Given the description of an element on the screen output the (x, y) to click on. 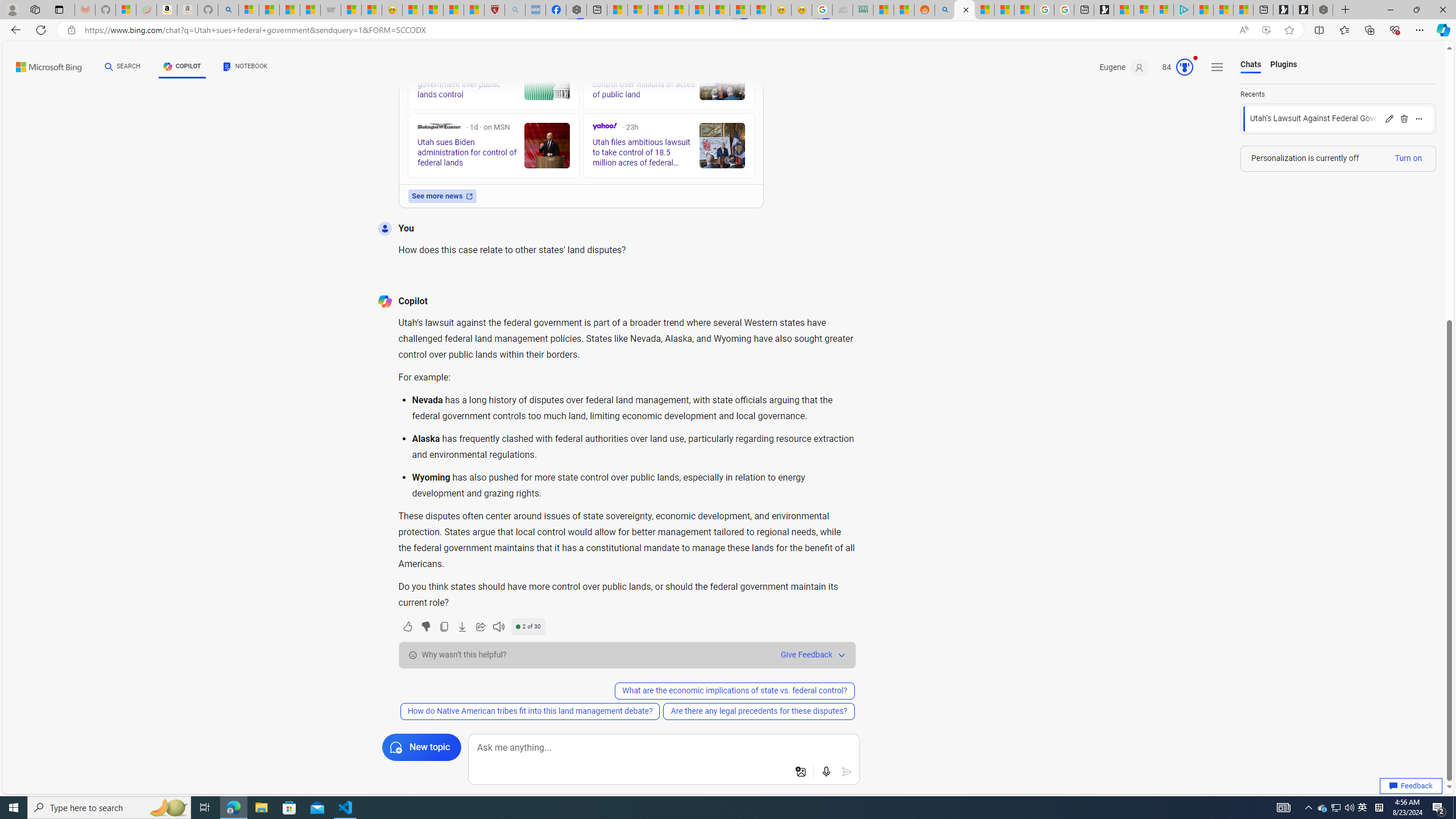
Rename (1388, 118)
Copy (442, 626)
AutomationID: serp_medal_svg (1183, 67)
